Given the description of an element on the screen output the (x, y) to click on. 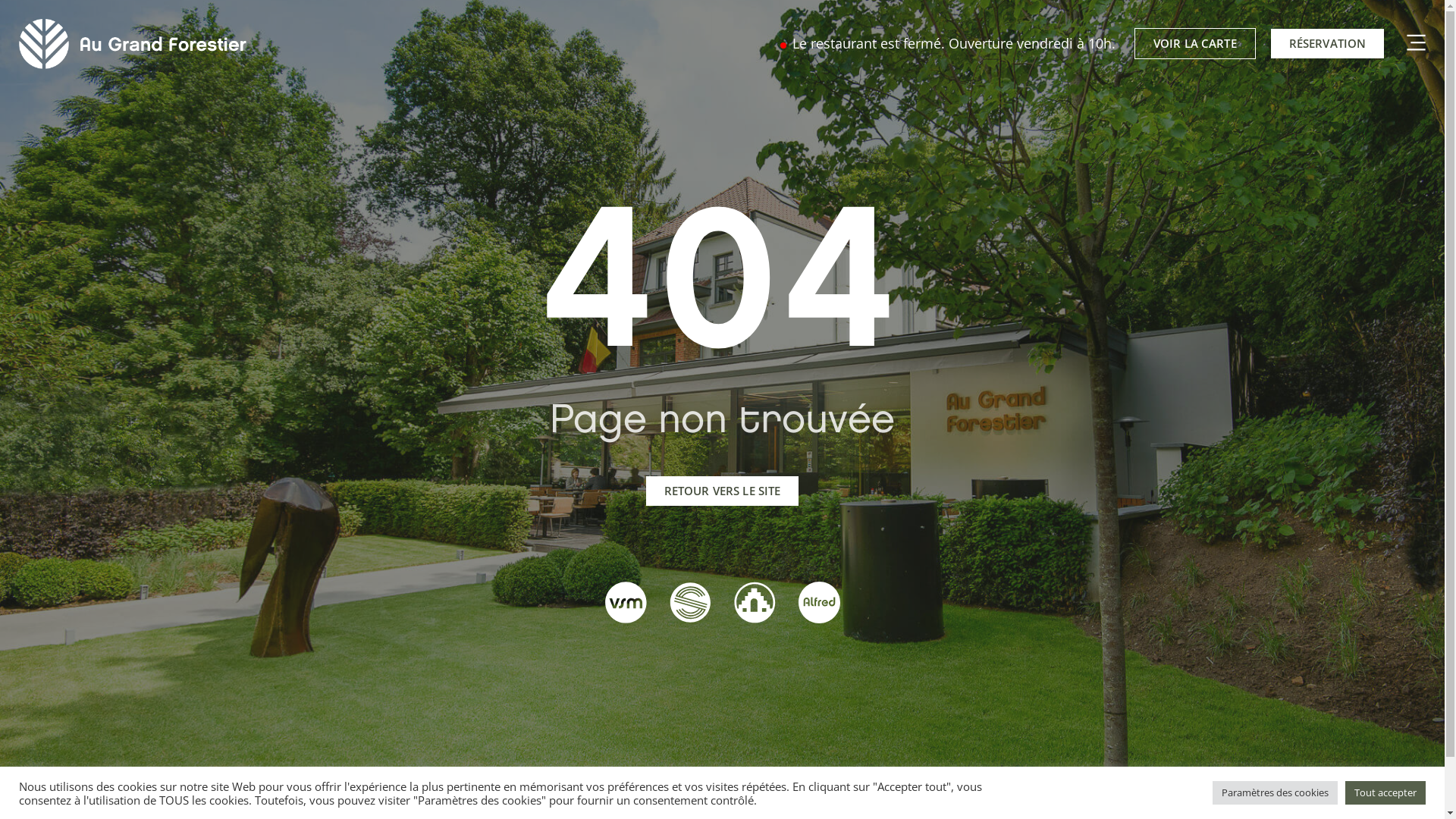
VOIR LA CARTE Element type: text (1194, 43)
COMBINED SHAPE Element type: text (1412, 43)
Tout accepter Element type: text (1385, 792)
RETOUR VERS LE SITE Element type: text (722, 490)
